Given the description of an element on the screen output the (x, y) to click on. 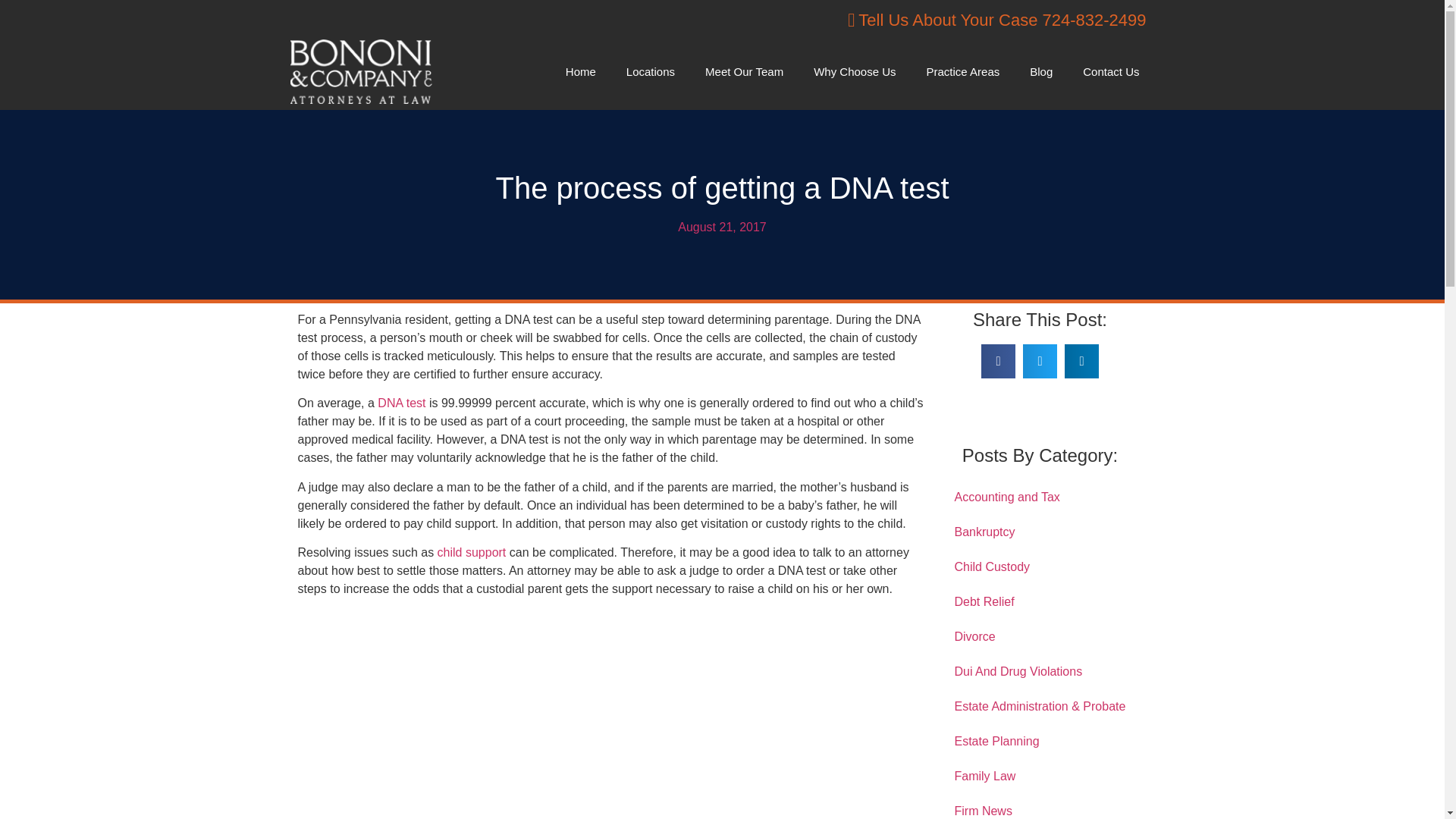
Why Choose Us (854, 70)
Meet Our Team (743, 70)
Tell Us About Your Case 724-832-2499 (722, 19)
Locations (650, 70)
Home (580, 70)
Practice Areas (962, 70)
Contact Us (1110, 70)
